Given the description of an element on the screen output the (x, y) to click on. 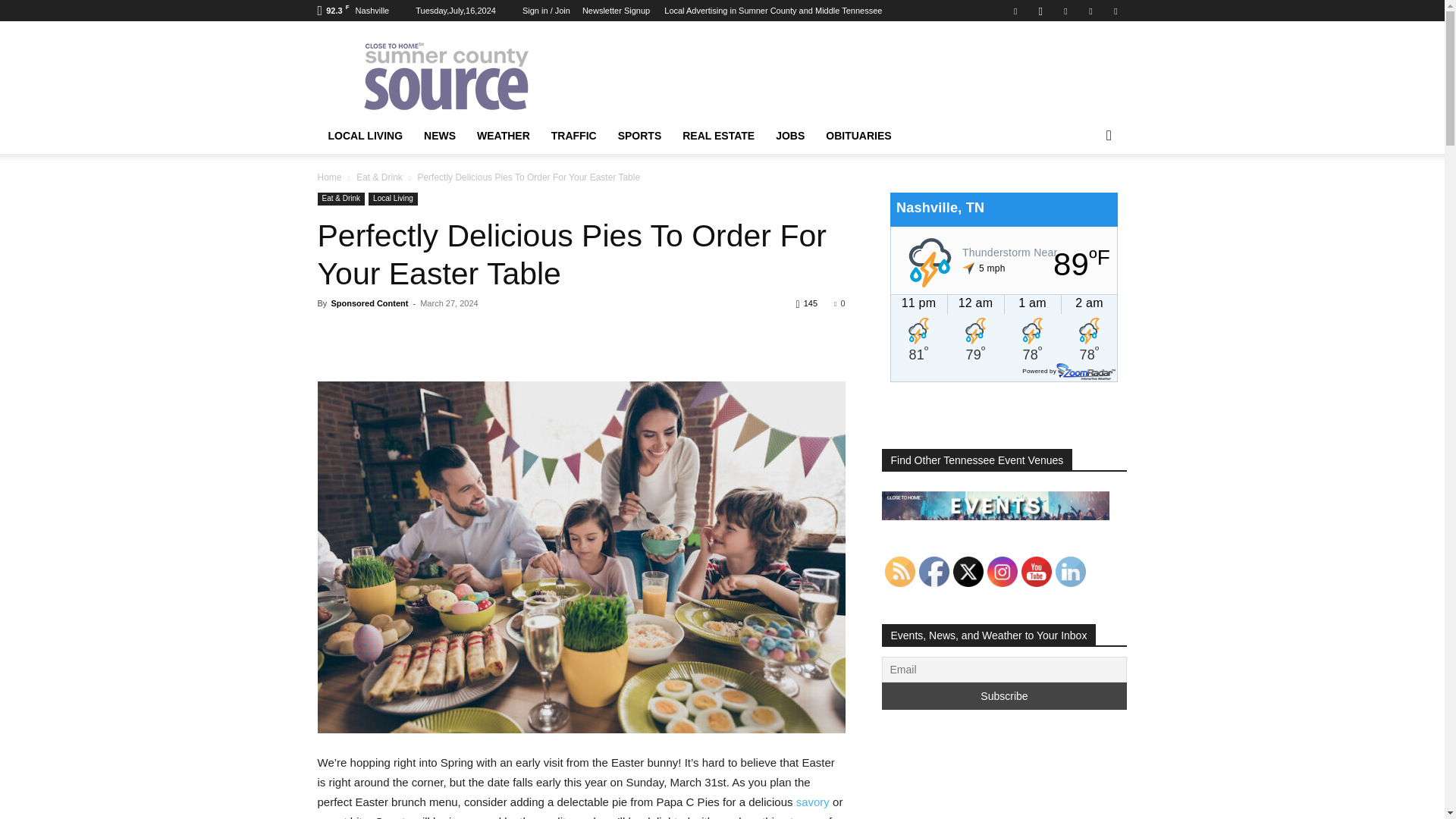
Pinterest (1065, 10)
Facebook (1015, 10)
Sumner County Source (445, 76)
Instagram (1040, 10)
Twitter (1090, 10)
Youtube (1114, 10)
Subscribe (1003, 696)
